Given the description of an element on the screen output the (x, y) to click on. 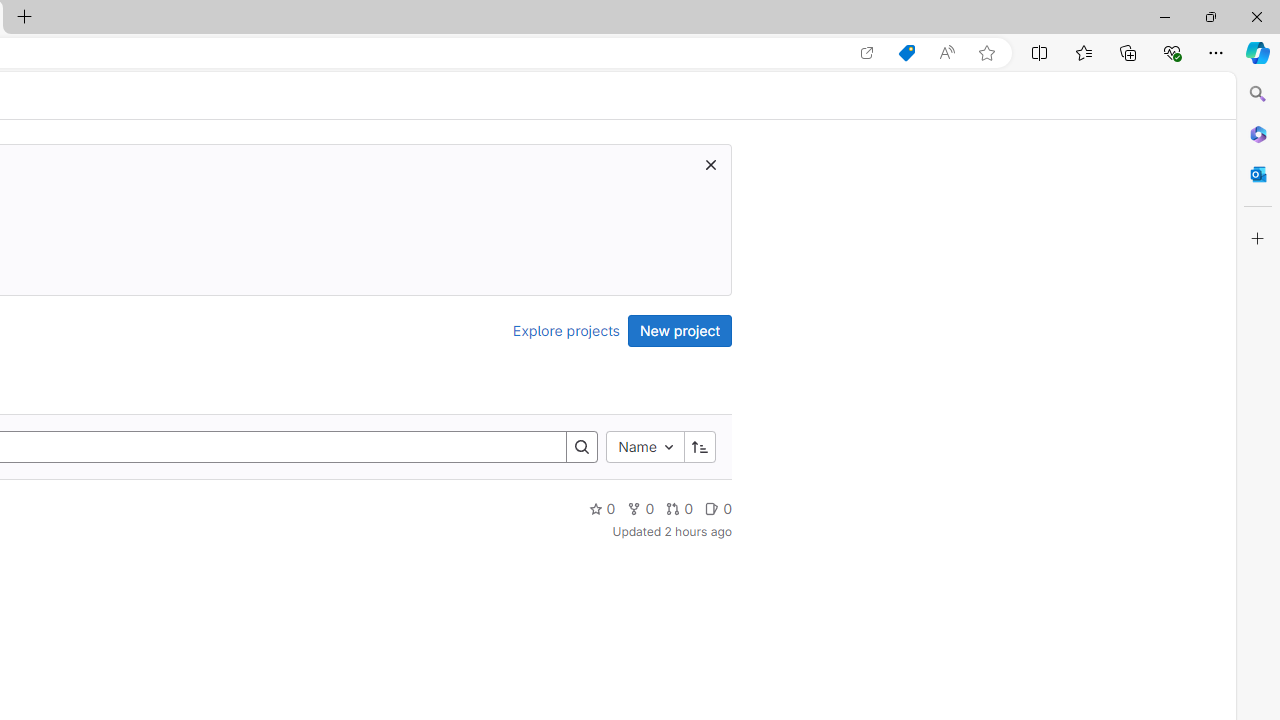
0 (718, 508)
Class: s14 gl-mr-2 (712, 508)
Open in app (867, 53)
Dismiss trial promotion (710, 164)
Class: s16 gl-icon gl-button-icon  (710, 164)
Name (644, 445)
